Given the description of an element on the screen output the (x, y) to click on. 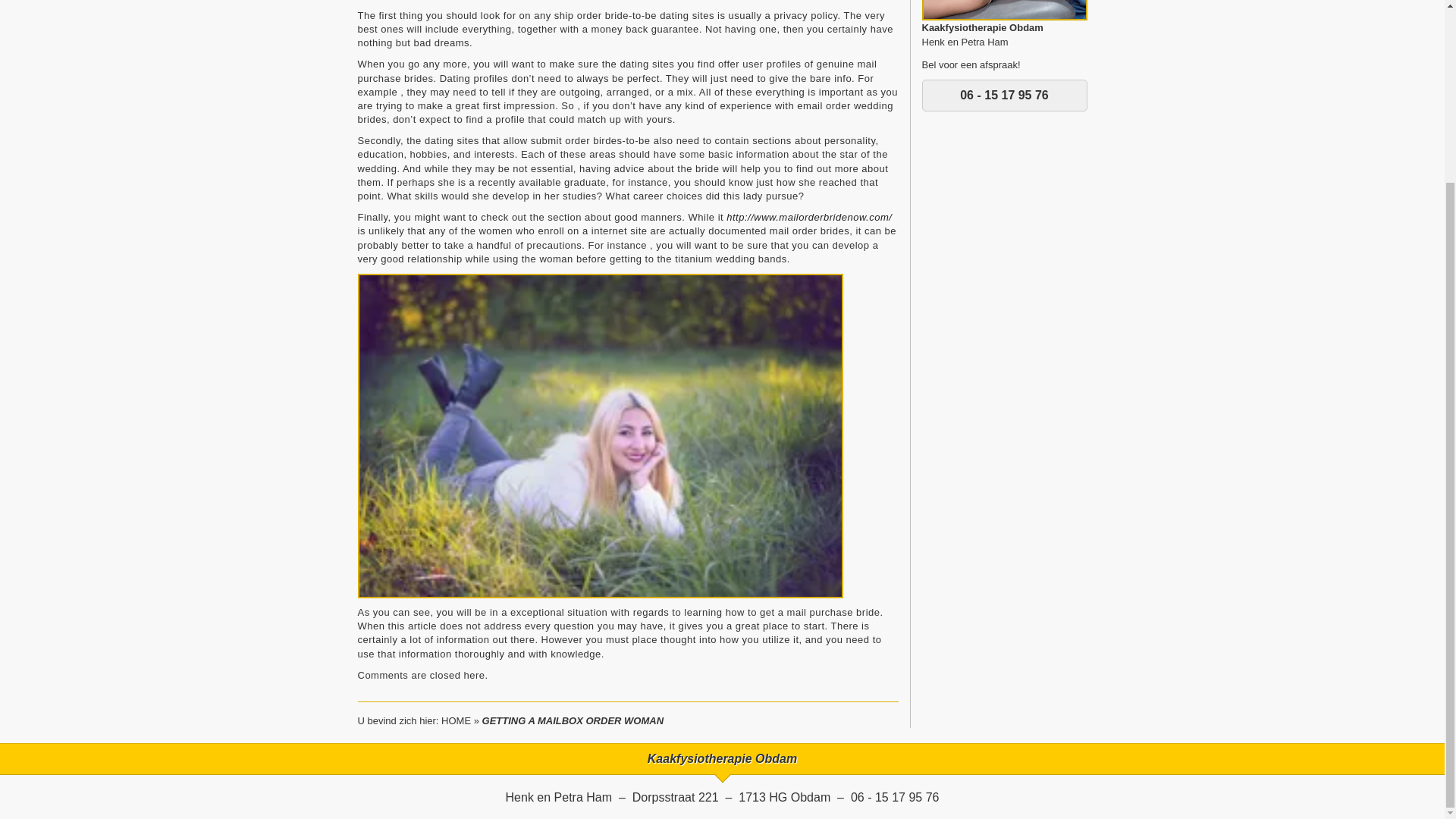
06 - 15 17 95 76 (894, 797)
HOME (455, 720)
06 - 15 17 95 76 (1004, 95)
